Given the description of an element on the screen output the (x, y) to click on. 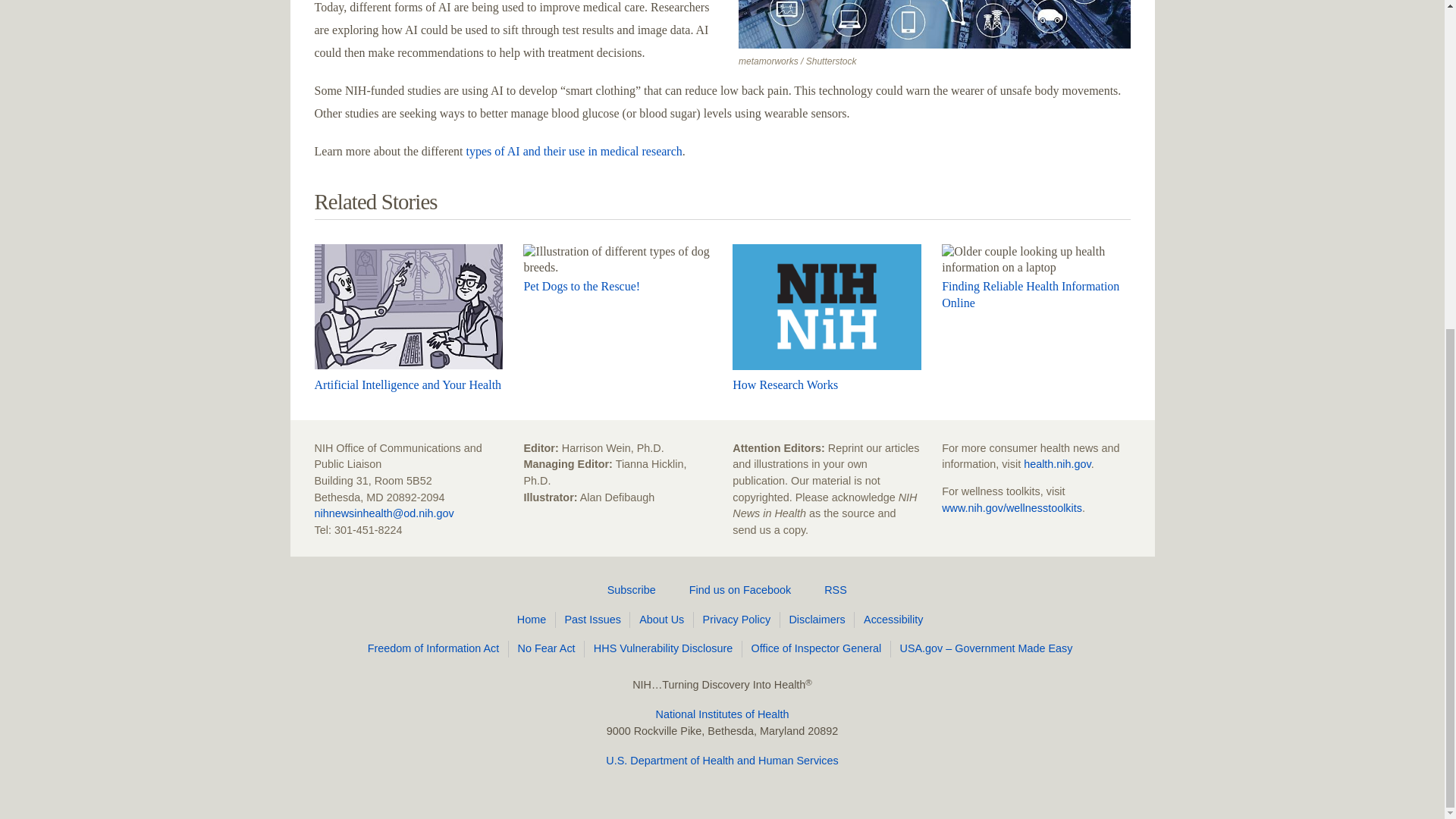
No Fear Act (549, 648)
Older couple looking up health information on a laptop (1035, 260)
Privacy Policy (739, 619)
Artificial Intelligence and Your Health (407, 384)
Freedom of Information Act (435, 648)
HHS Vulnerability Disclosure (665, 648)
Subscribe (622, 590)
Office of Inspector General (818, 648)
